Given the description of an element on the screen output the (x, y) to click on. 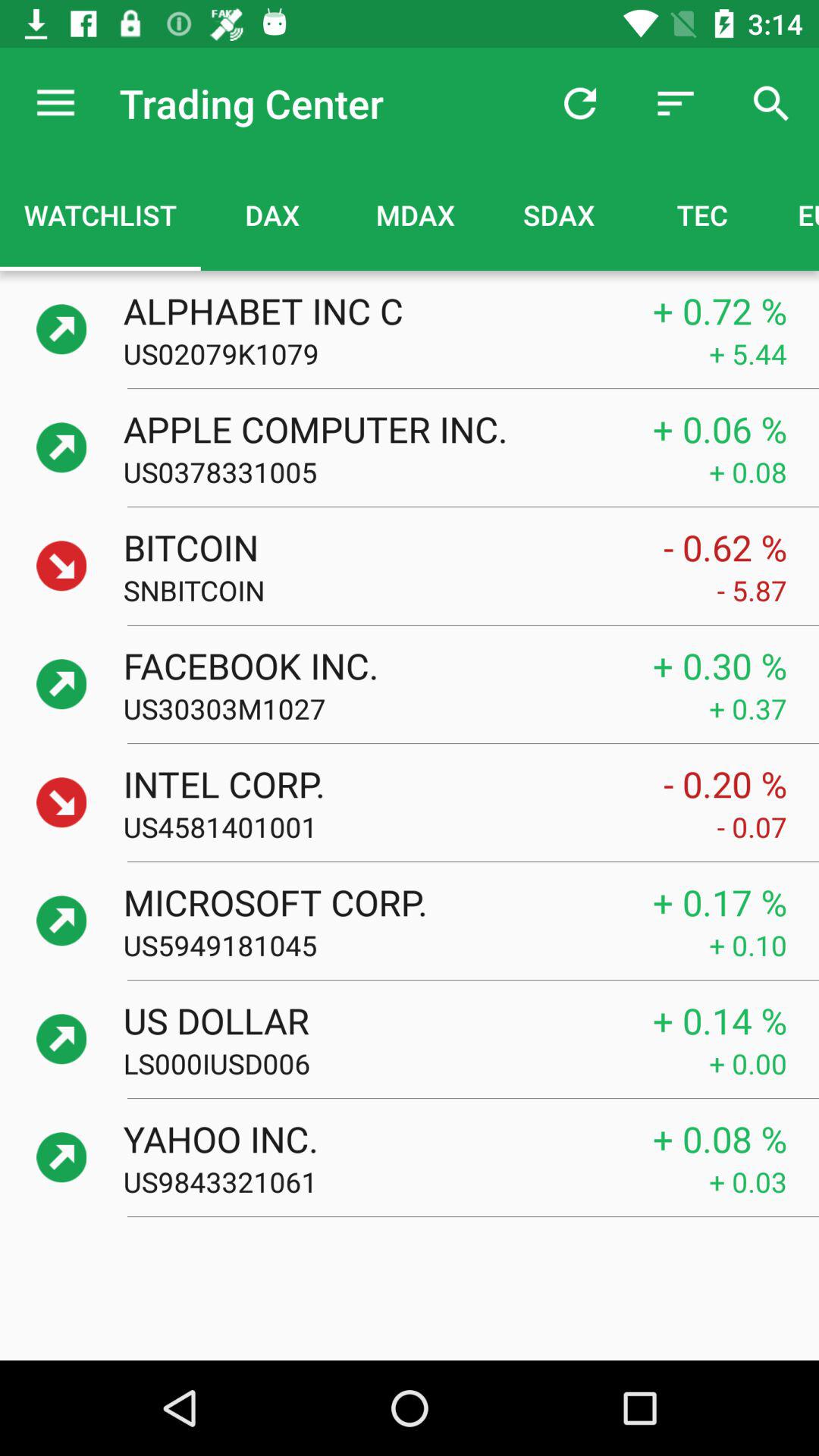
turn on icon next to the trading center app (55, 103)
